Given the description of an element on the screen output the (x, y) to click on. 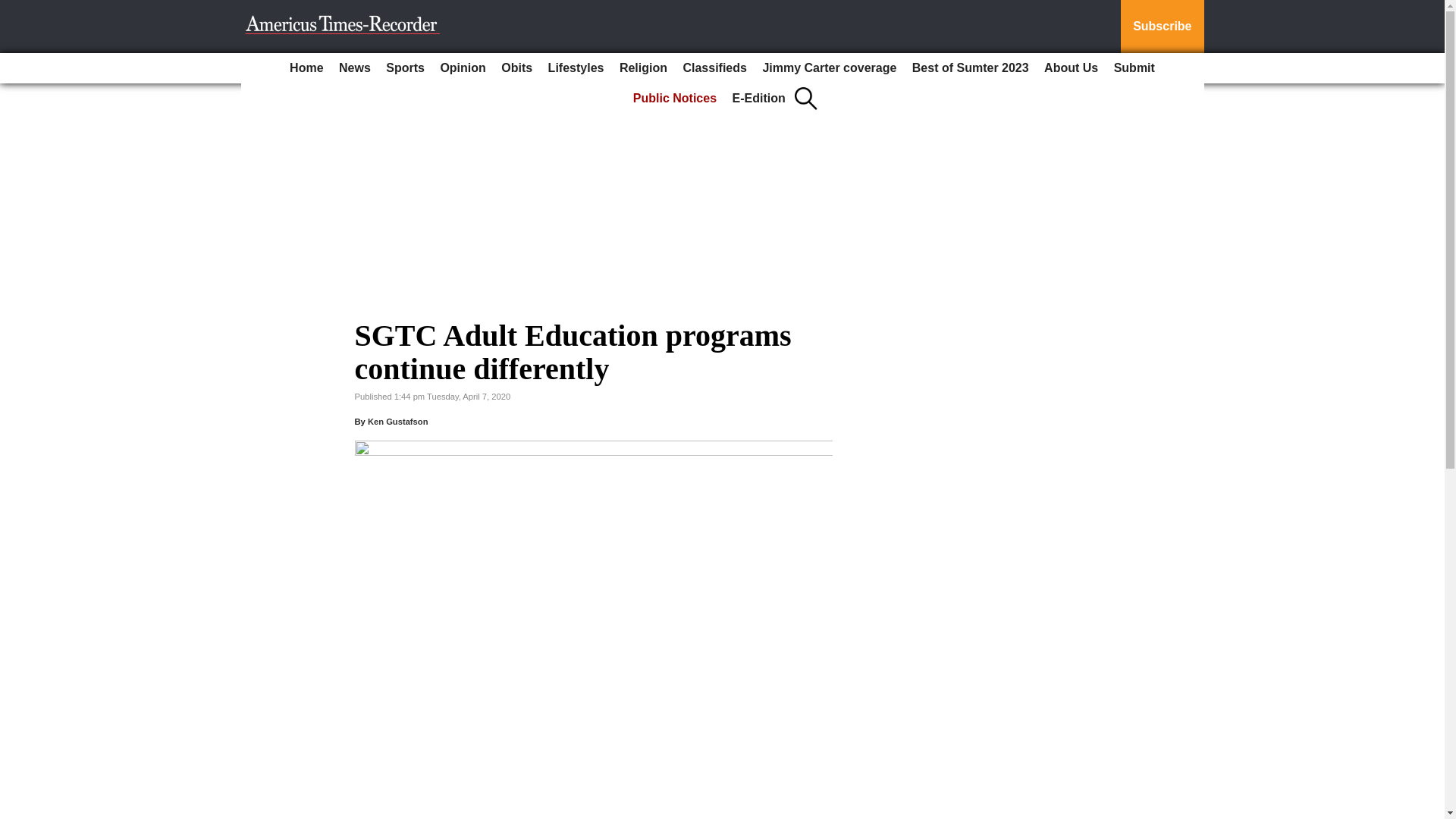
Obits (516, 68)
About Us (1070, 68)
Submit (1134, 68)
Subscribe (1162, 26)
Lifestyles (575, 68)
Ken Gustafson (398, 420)
Best of Sumter 2023 (970, 68)
Sports (405, 68)
Public Notices (674, 98)
News (355, 68)
